Given the description of an element on the screen output the (x, y) to click on. 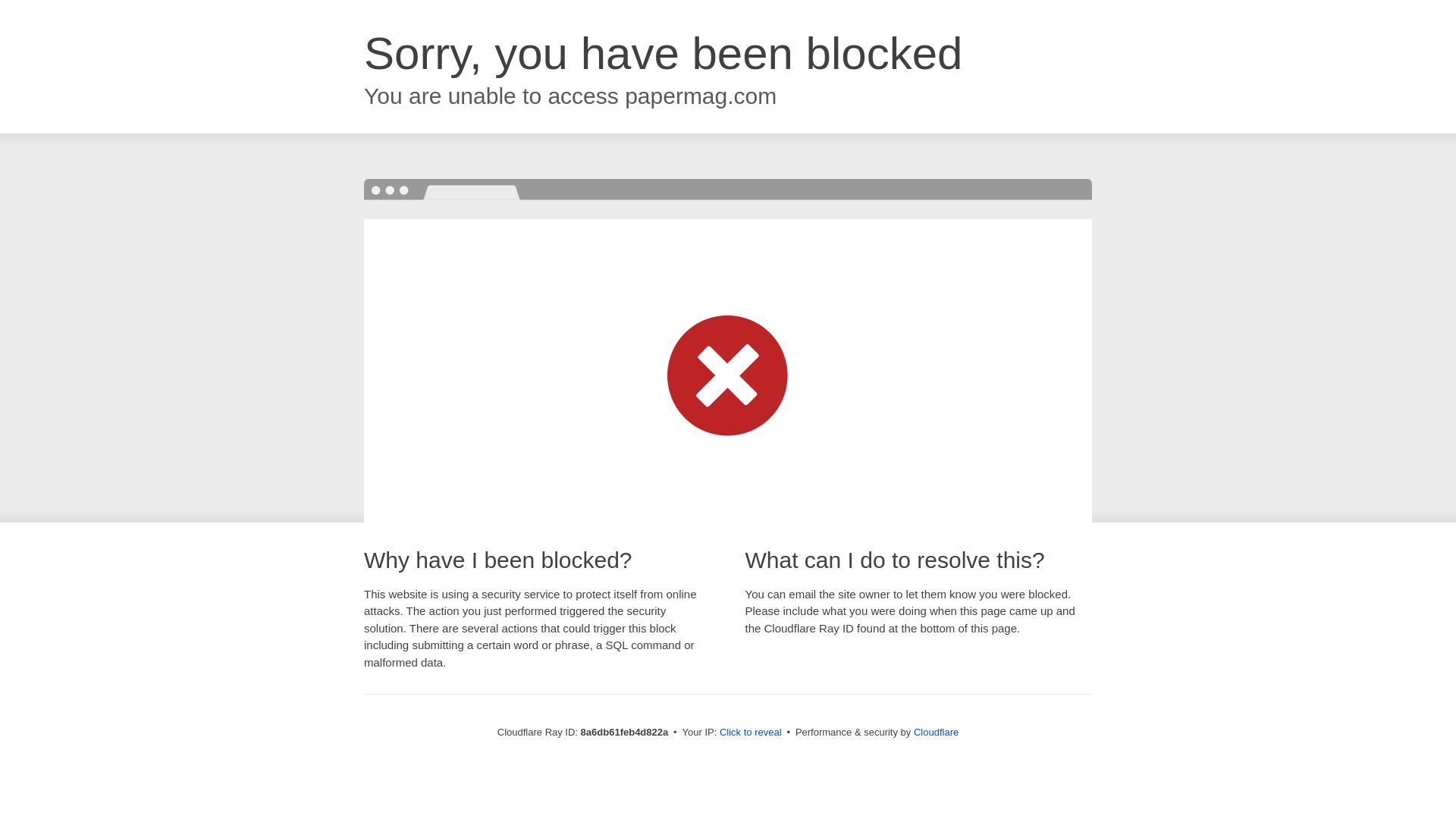
Click to reveal (750, 732)
Cloudflare (936, 731)
